Given the description of an element on the screen output the (x, y) to click on. 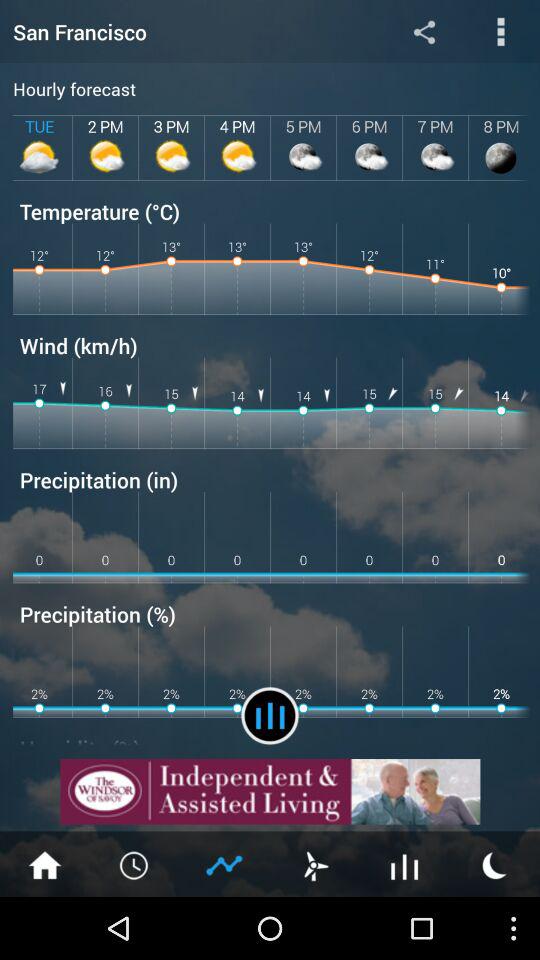
click to homepage (45, 864)
